Given the description of an element on the screen output the (x, y) to click on. 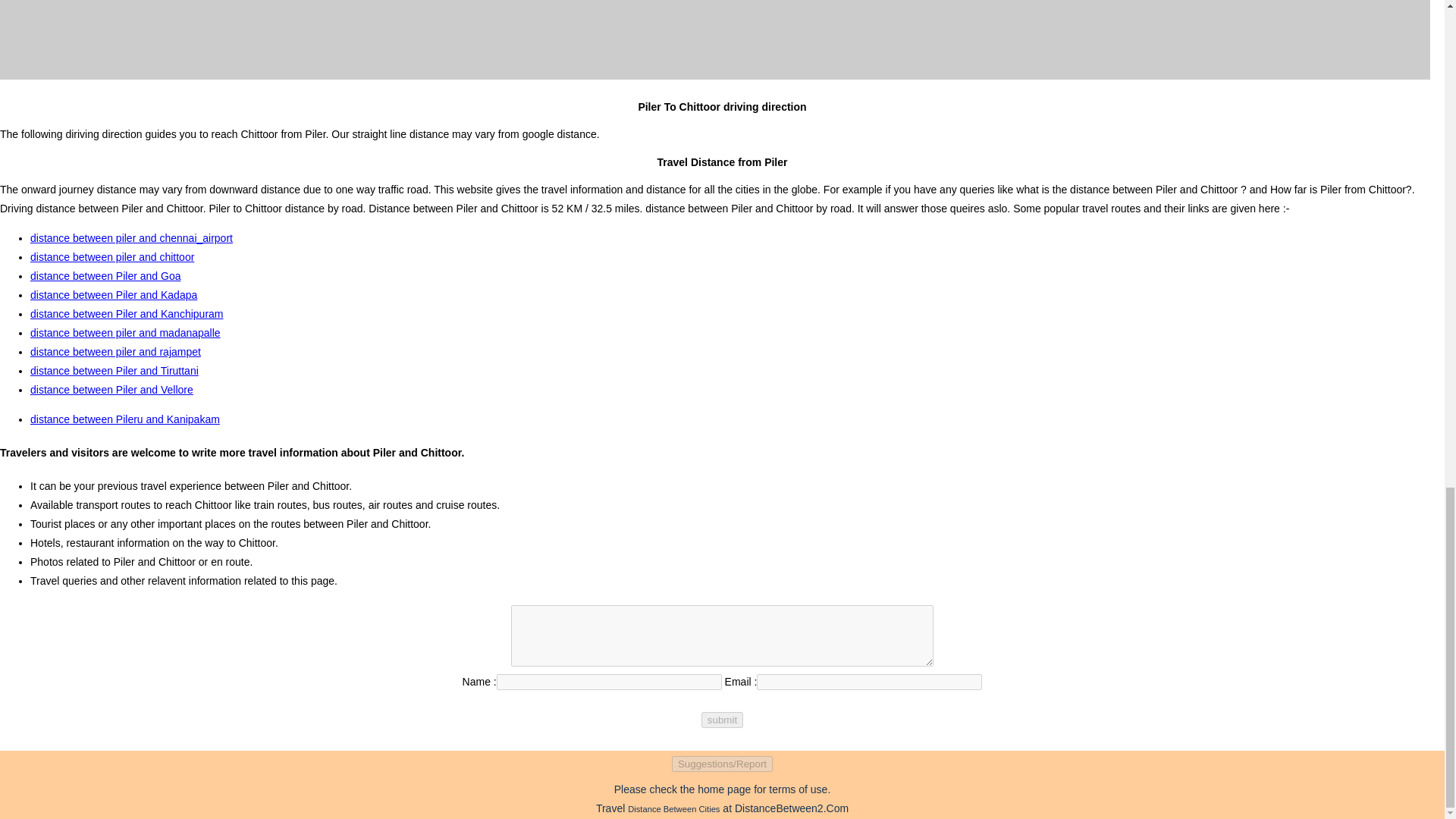
submit (721, 719)
distance between Piler and Kadapa (113, 295)
Distance Between Cities (673, 809)
submit (721, 719)
distance between Piler and Kanchipuram (127, 313)
distance between piler and chittoor (111, 256)
distance between piler and madanapalle (125, 332)
distance between Piler and Tiruttani (114, 370)
distance between piler and rajampet (115, 351)
distance between Pileru and Kanipakam (124, 419)
distance between Piler and Goa (105, 275)
distance between Piler and Vellore (111, 389)
